Given the description of an element on the screen output the (x, y) to click on. 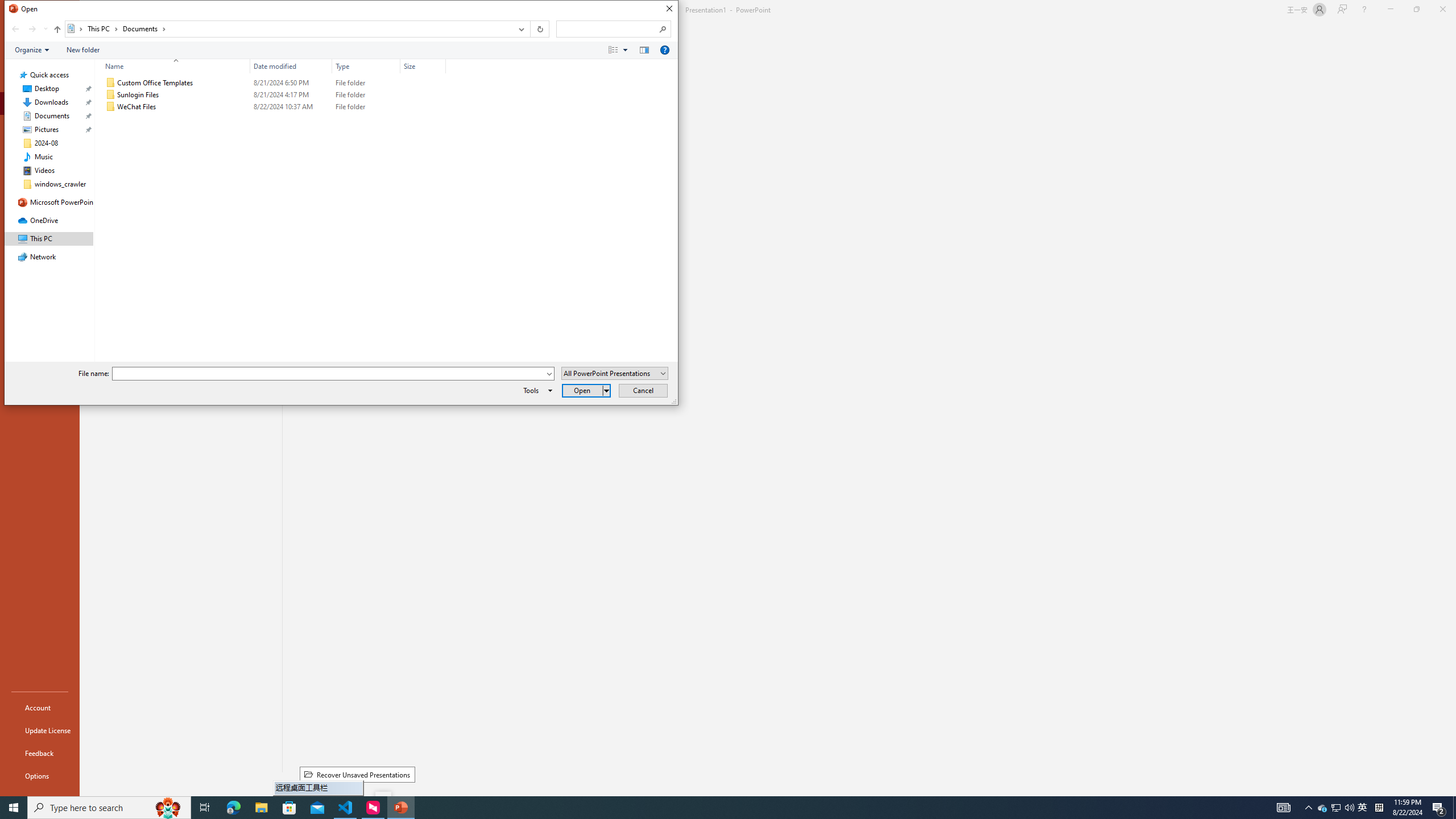
Command Module (341, 49)
Recent locations (44, 28)
Size (422, 106)
Navigation buttons (28, 28)
Views (620, 49)
Custom Office Templates (273, 82)
